Given the description of an element on the screen output the (x, y) to click on. 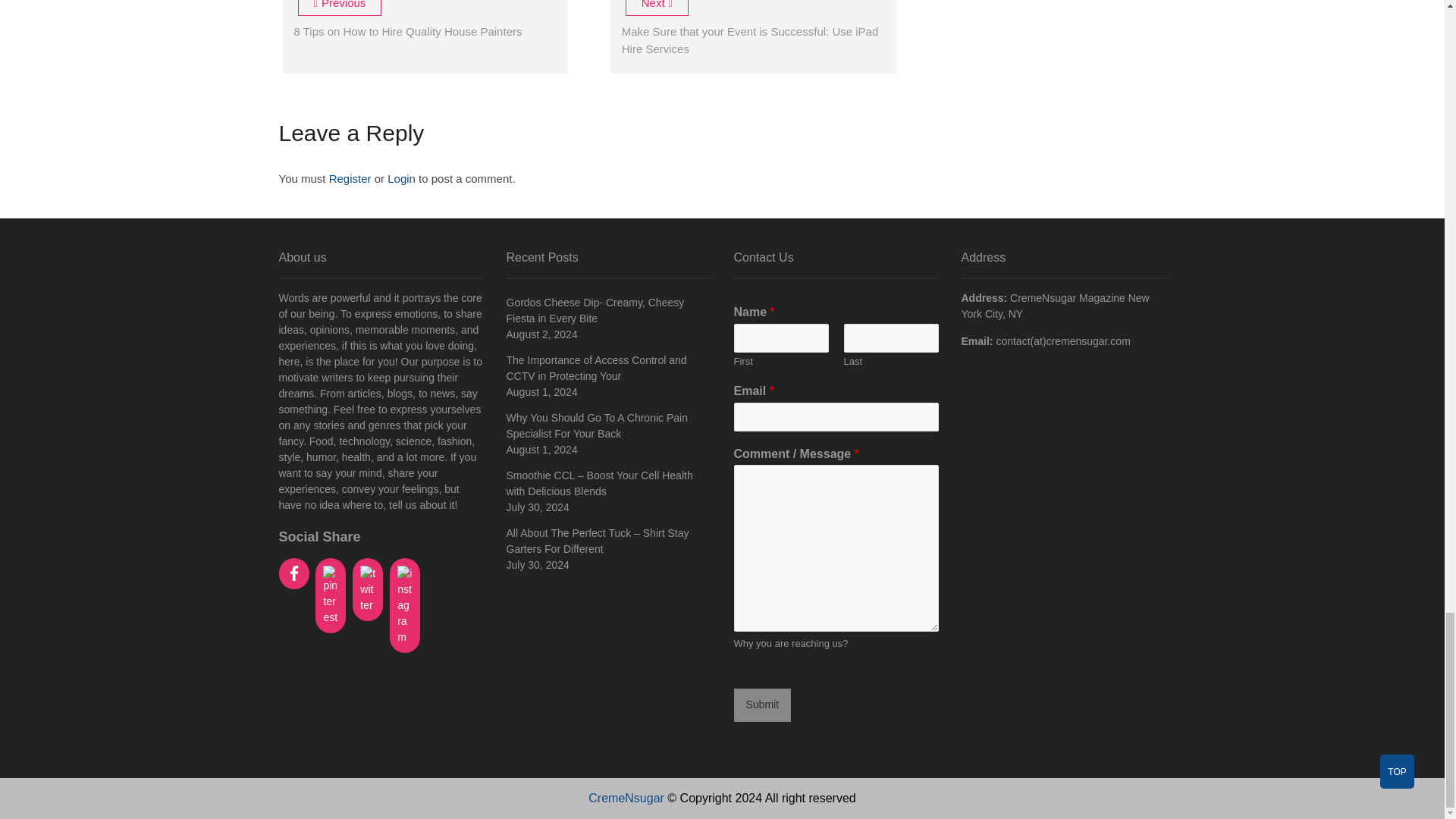
CremeNsugar (625, 797)
